Given the description of an element on the screen output the (x, y) to click on. 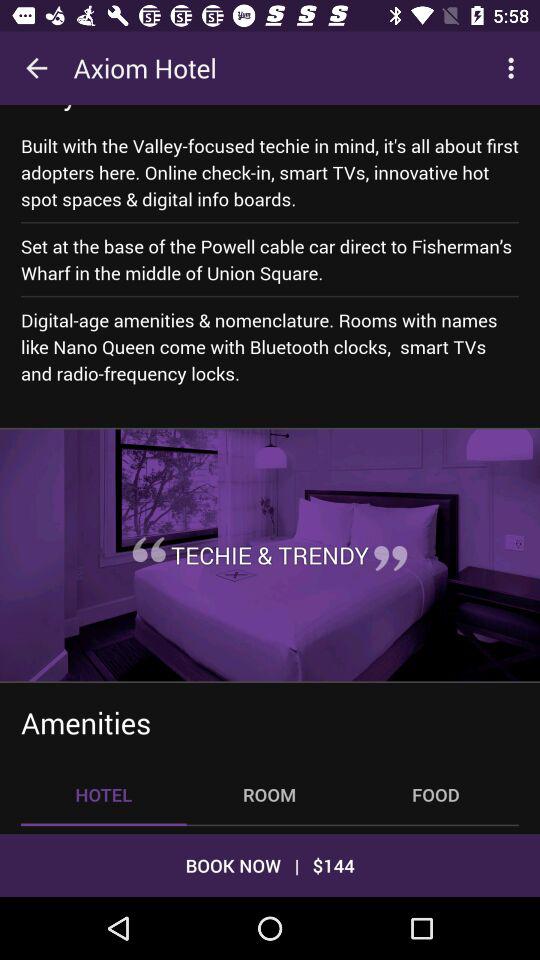
select the icon next to the food item (269, 794)
